Given the description of an element on the screen output the (x, y) to click on. 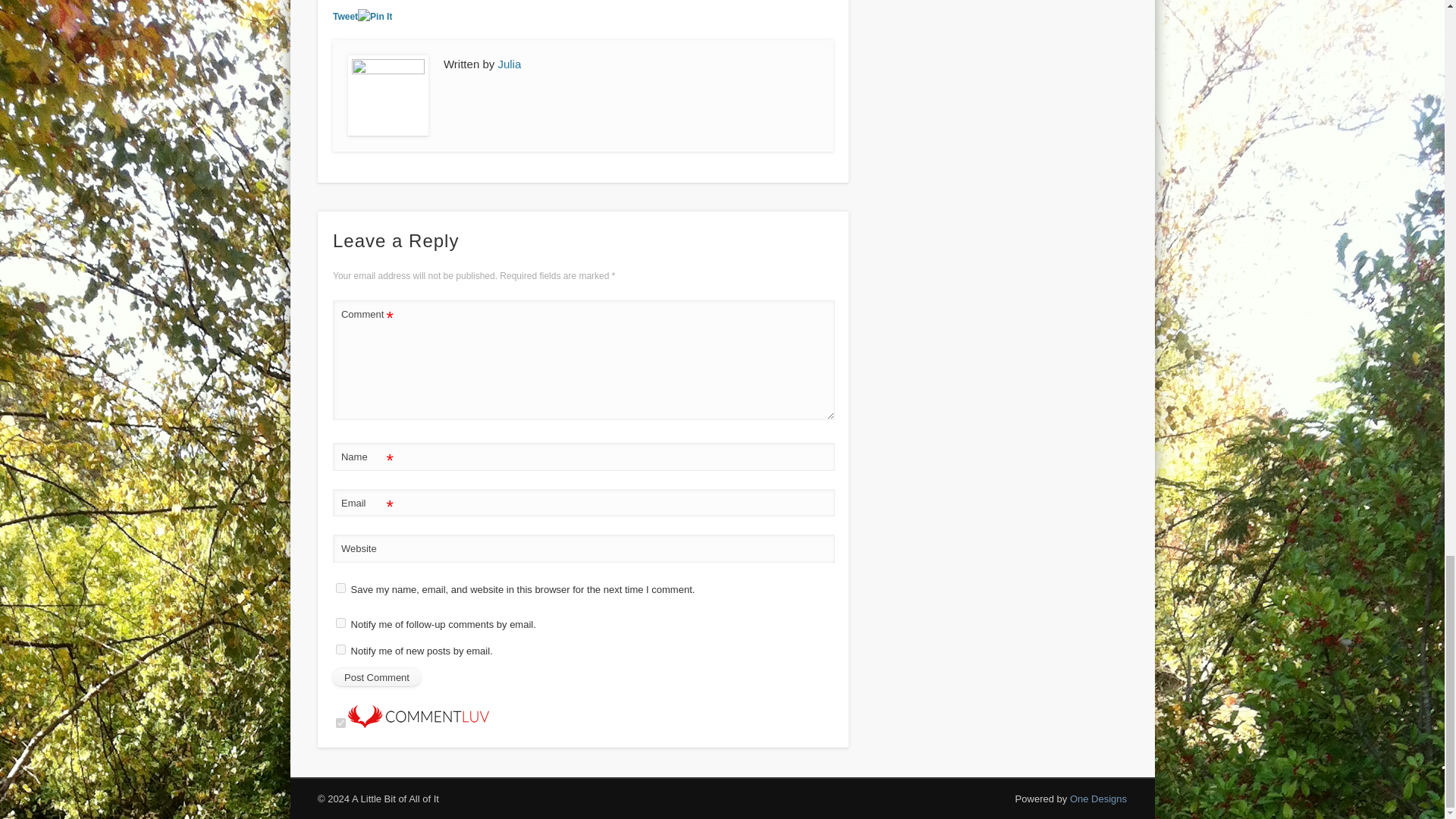
yes (341, 587)
Post Comment (376, 678)
Pin It (374, 17)
Posts by Julia (509, 63)
on (341, 723)
subscribe (341, 623)
subscribe (341, 649)
